Given the description of an element on the screen output the (x, y) to click on. 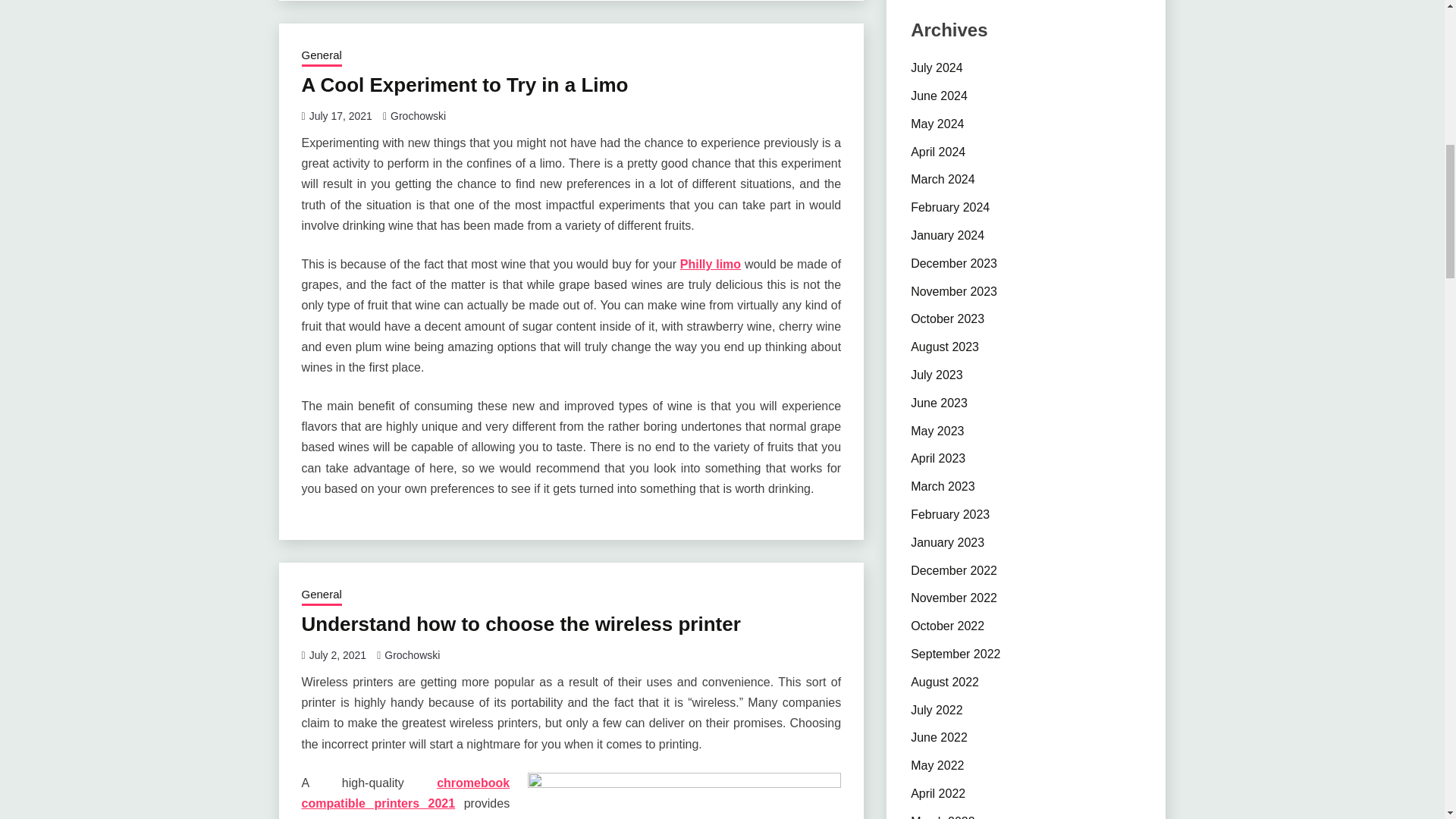
June 2024 (939, 95)
Understand how to choose the wireless printer (521, 623)
A Cool Experiment to Try in a Limo (464, 84)
July 2024 (936, 67)
July 2, 2021 (337, 654)
General (321, 596)
Grochowski (411, 654)
July 17, 2021 (340, 115)
chromebook compatible printers 2021 (406, 792)
General (321, 56)
